Given the description of an element on the screen output the (x, y) to click on. 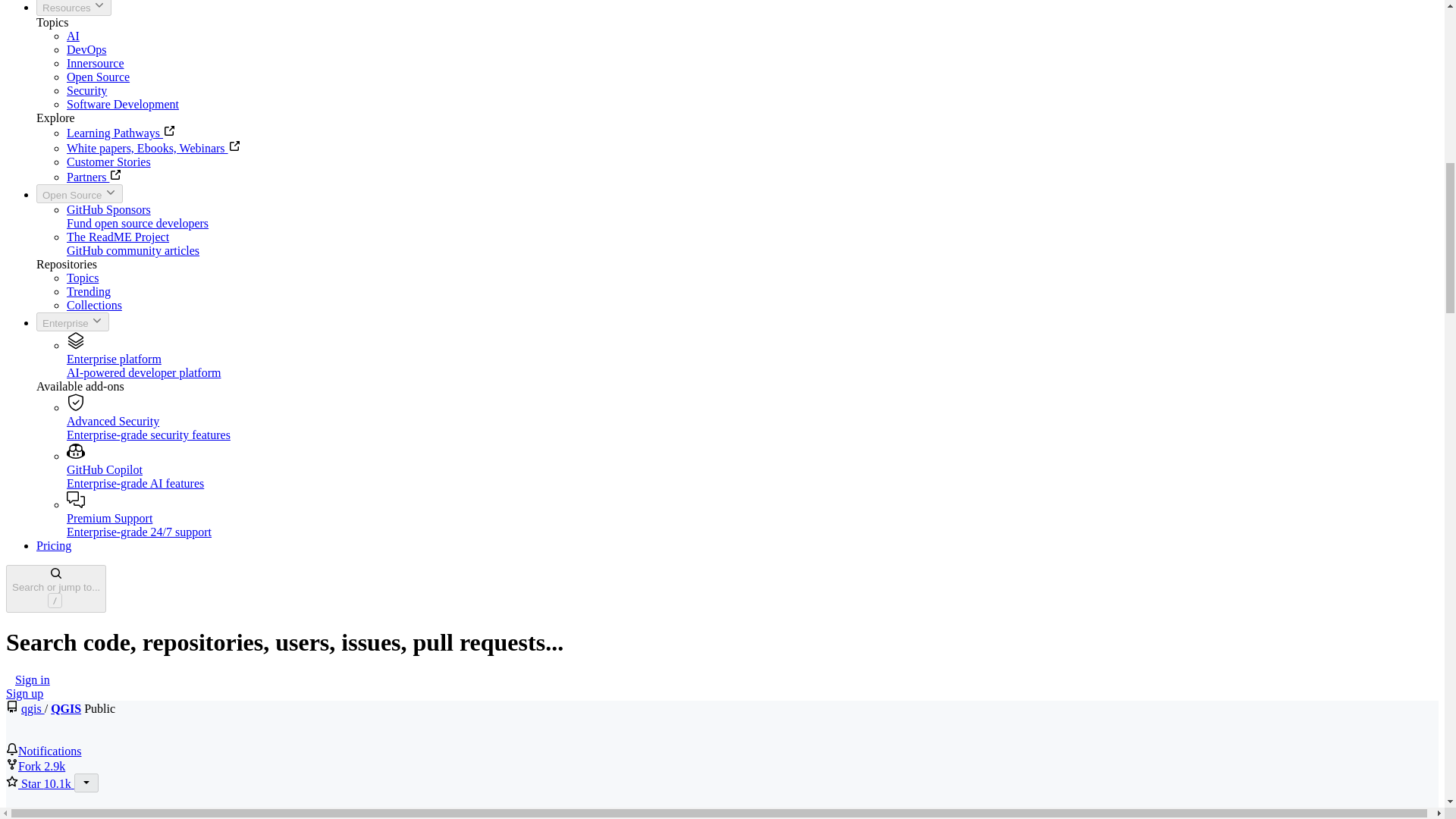
Resources (74, 7)
Learning Pathways (120, 132)
Open Source (79, 193)
Security (86, 90)
Open Source (97, 76)
Innersource (94, 62)
AI (73, 35)
10,099 (57, 783)
White papers, Ebooks, Webinars (153, 147)
2,927 (54, 766)
DevOps (86, 49)
Software Development (122, 103)
Customer Stories (108, 161)
Partners (93, 176)
